Given the description of an element on the screen output the (x, y) to click on. 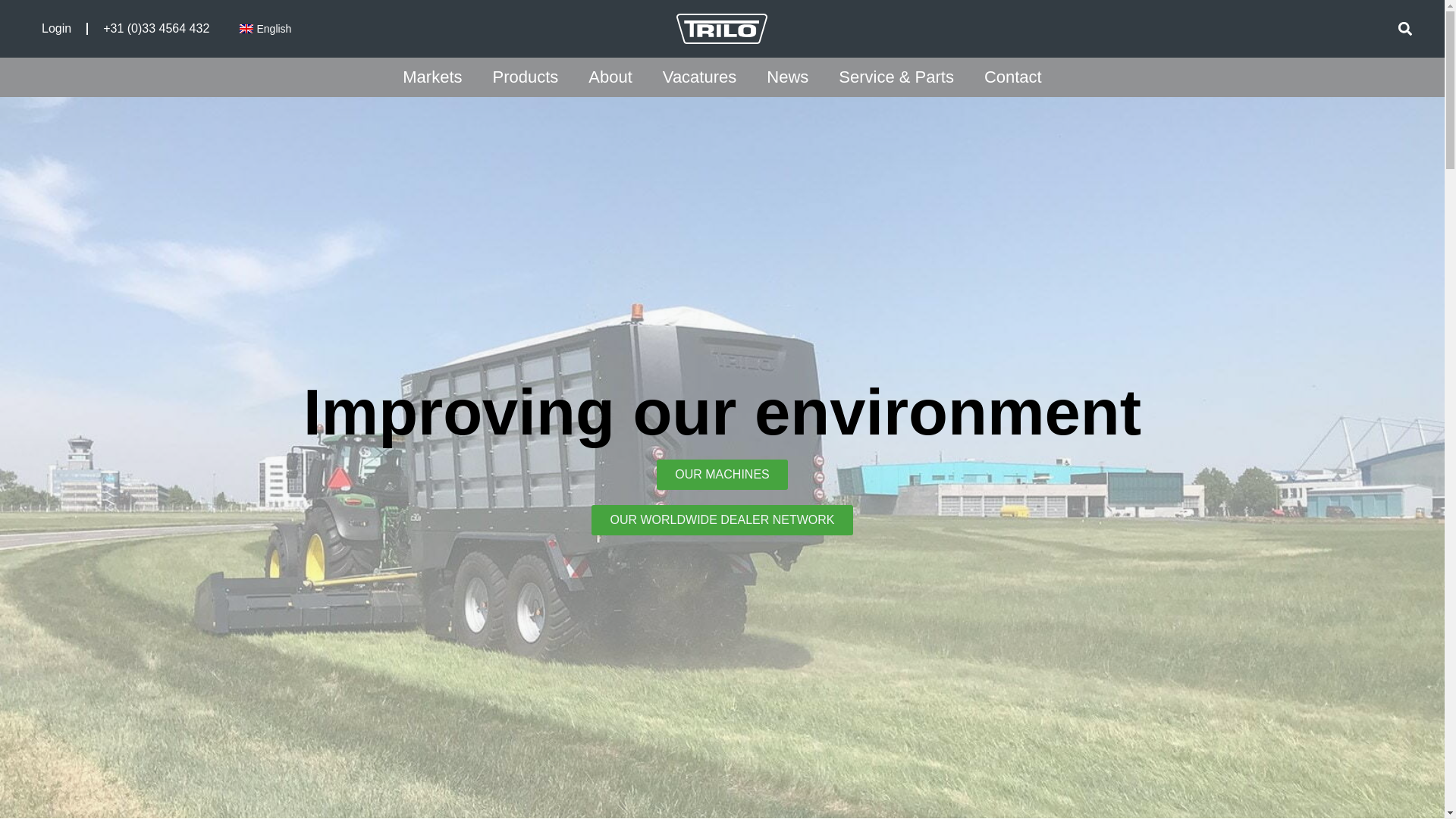
Login (55, 28)
English (264, 28)
English (264, 28)
